Given the description of an element on the screen output the (x, y) to click on. 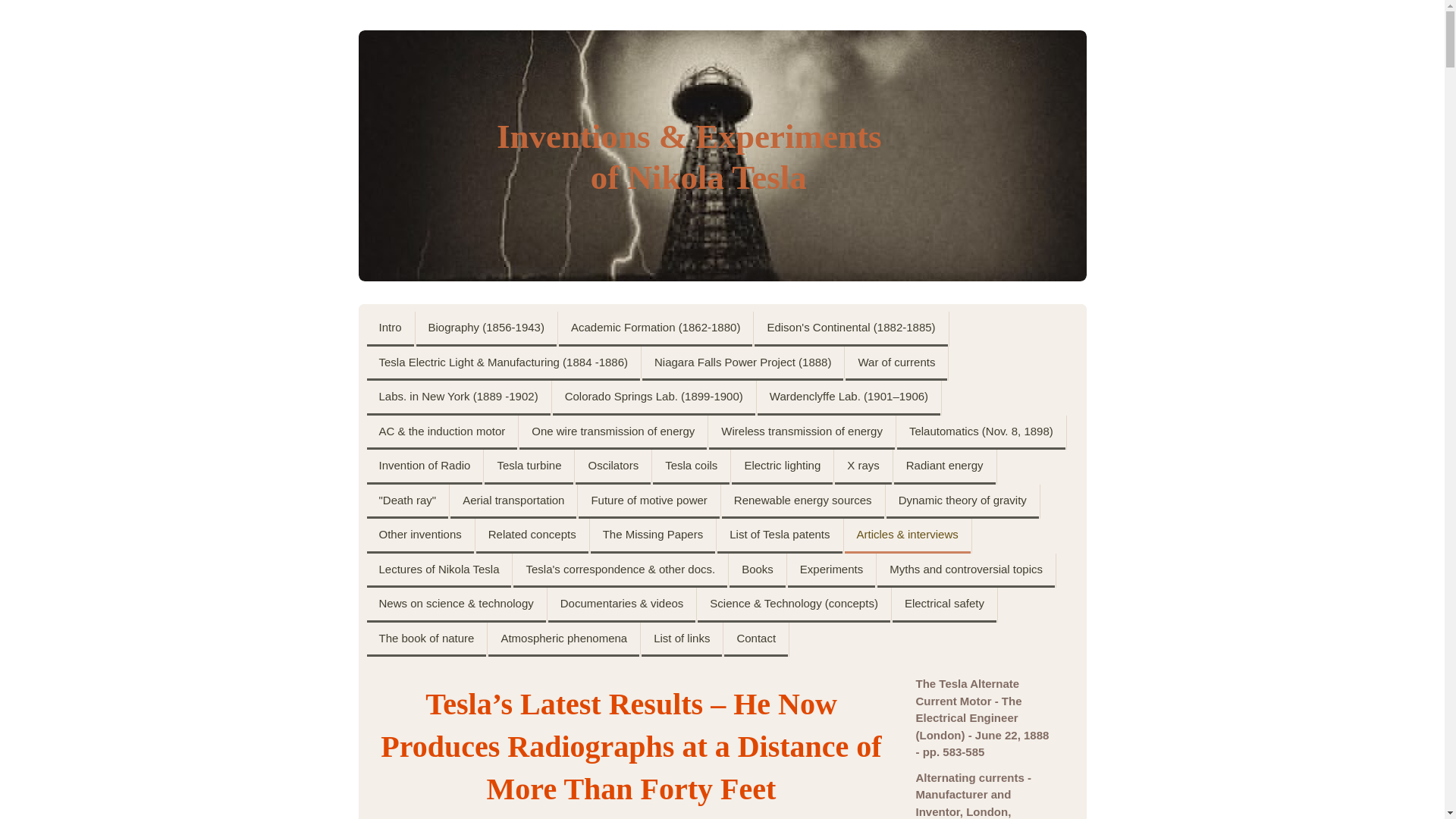
War of currents (896, 362)
The Missing Papers (653, 535)
Myths and controversial topics (965, 570)
X rays (862, 466)
Tesla coils (690, 466)
Radiant energy (944, 466)
Intro (389, 329)
Other inventions (420, 535)
Lectures of Nikola Tesla (439, 570)
Electric lighting (782, 466)
Experiments (831, 570)
One wire transmission of energy (612, 432)
Tesla turbine (528, 466)
Renewable energy sources (802, 501)
Oscilators (612, 466)
